Given the description of an element on the screen output the (x, y) to click on. 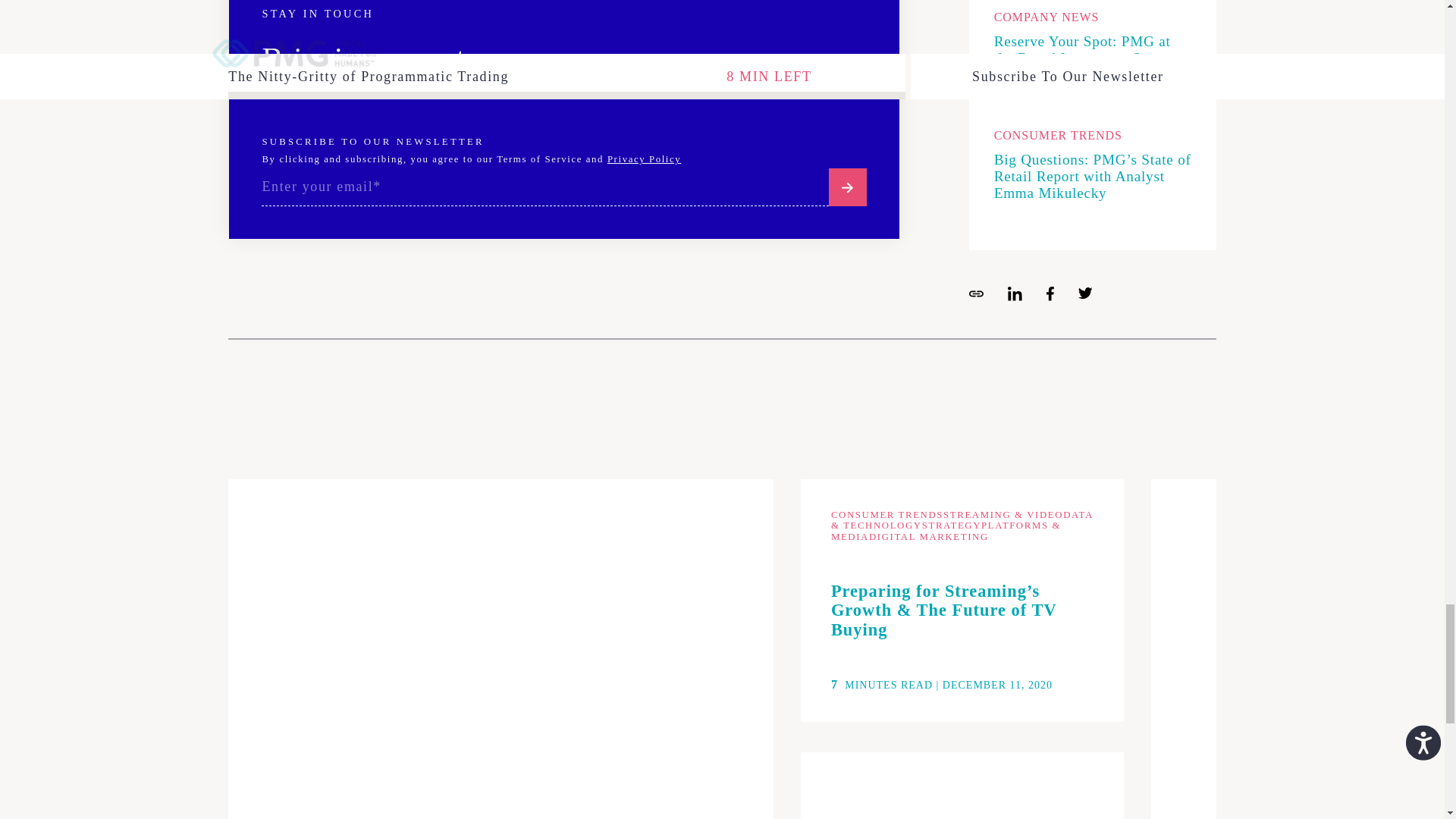
Submit (847, 186)
Privacy Policy (644, 158)
Submit (847, 186)
